Given the description of an element on the screen output the (x, y) to click on. 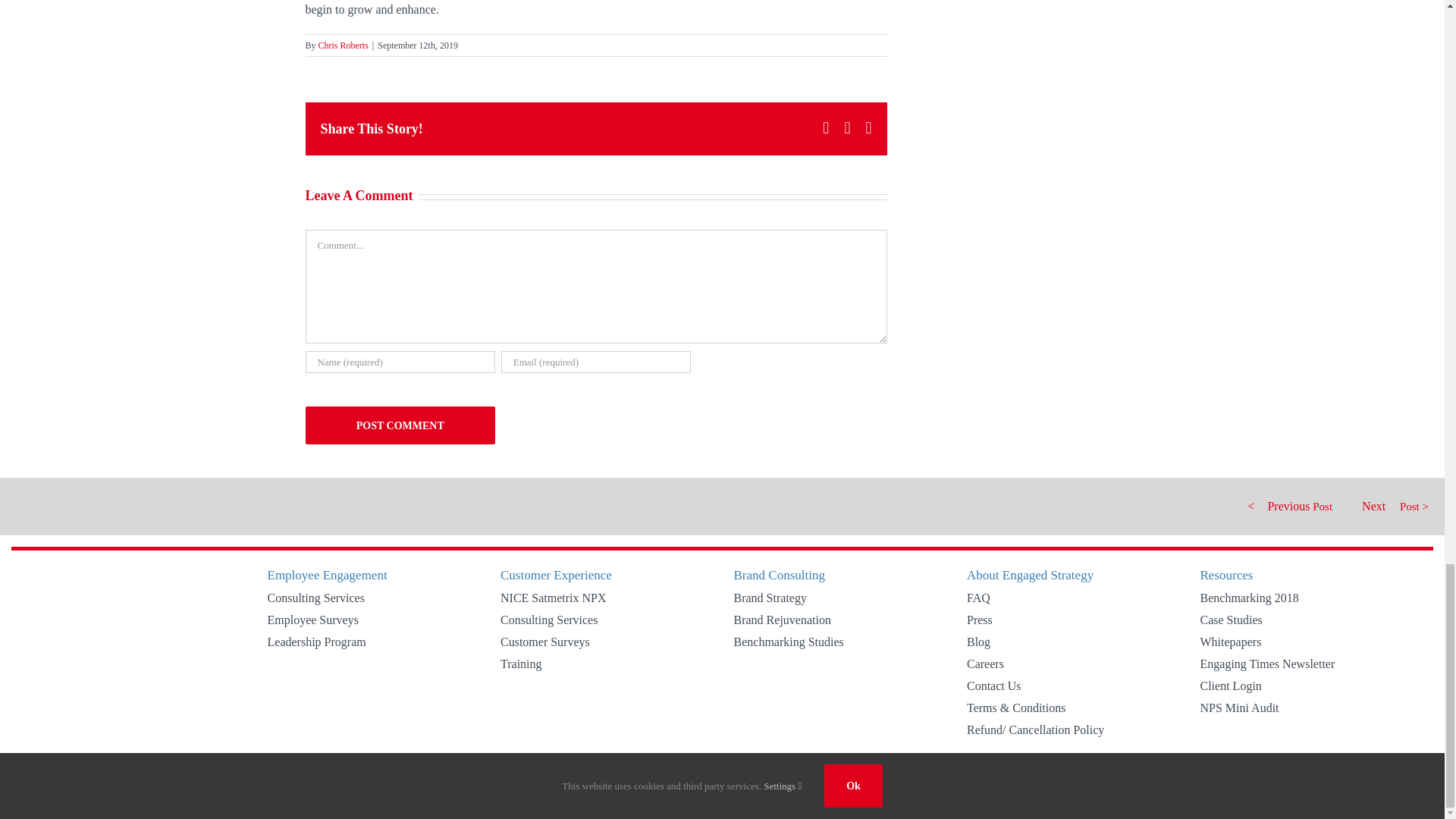
Post Comment (399, 425)
Posts by Chris Roberts (343, 45)
